Given the description of an element on the screen output the (x, y) to click on. 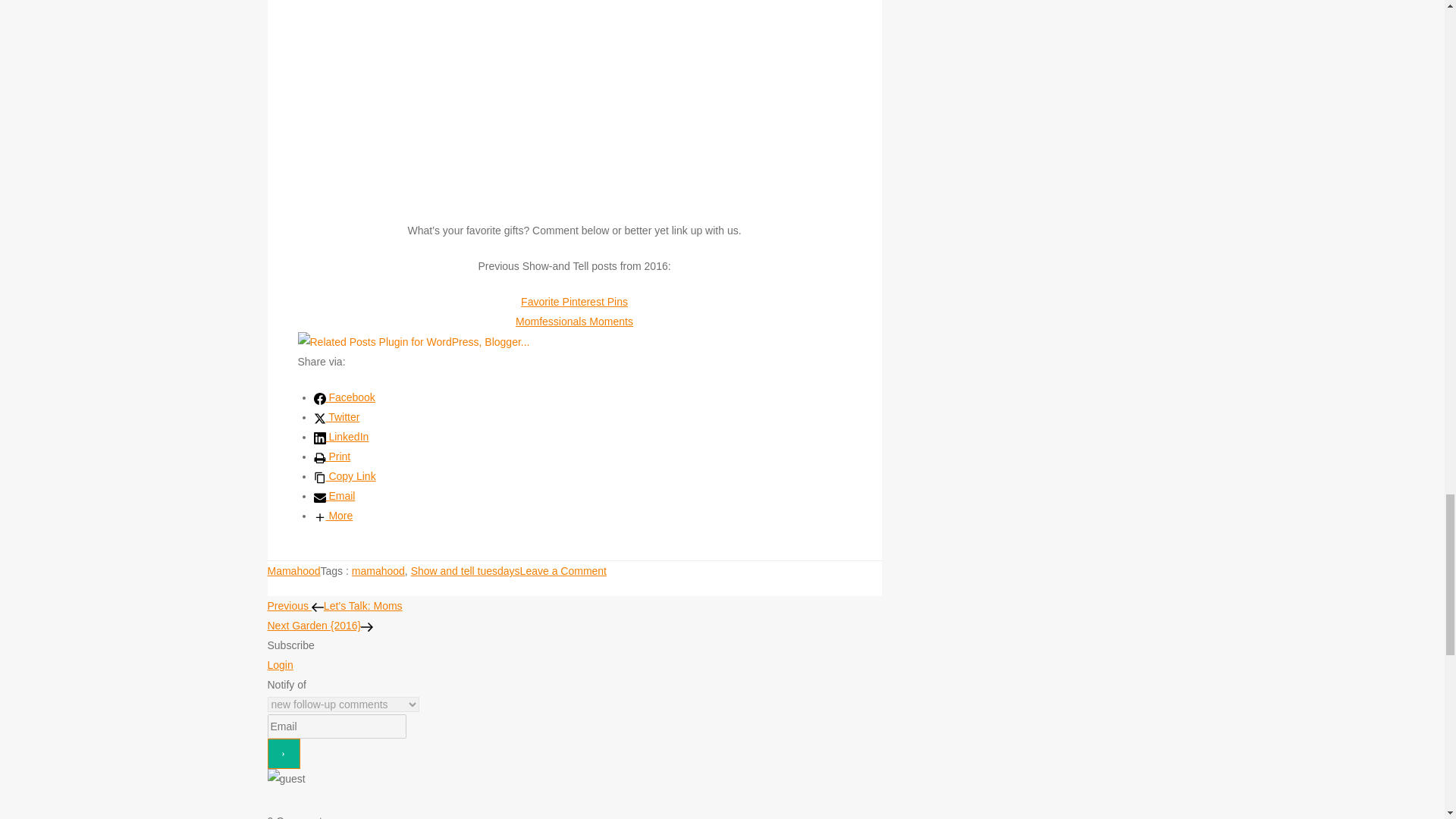
Facebook (344, 397)
Print (332, 456)
Momfessionals Moments (574, 321)
Show and tell tuesdays (464, 571)
mamahood (378, 571)
Twitter (336, 417)
Copy Link (344, 476)
More (333, 515)
Mamahood (293, 571)
LinkedIn (341, 436)
